Given the description of an element on the screen output the (x, y) to click on. 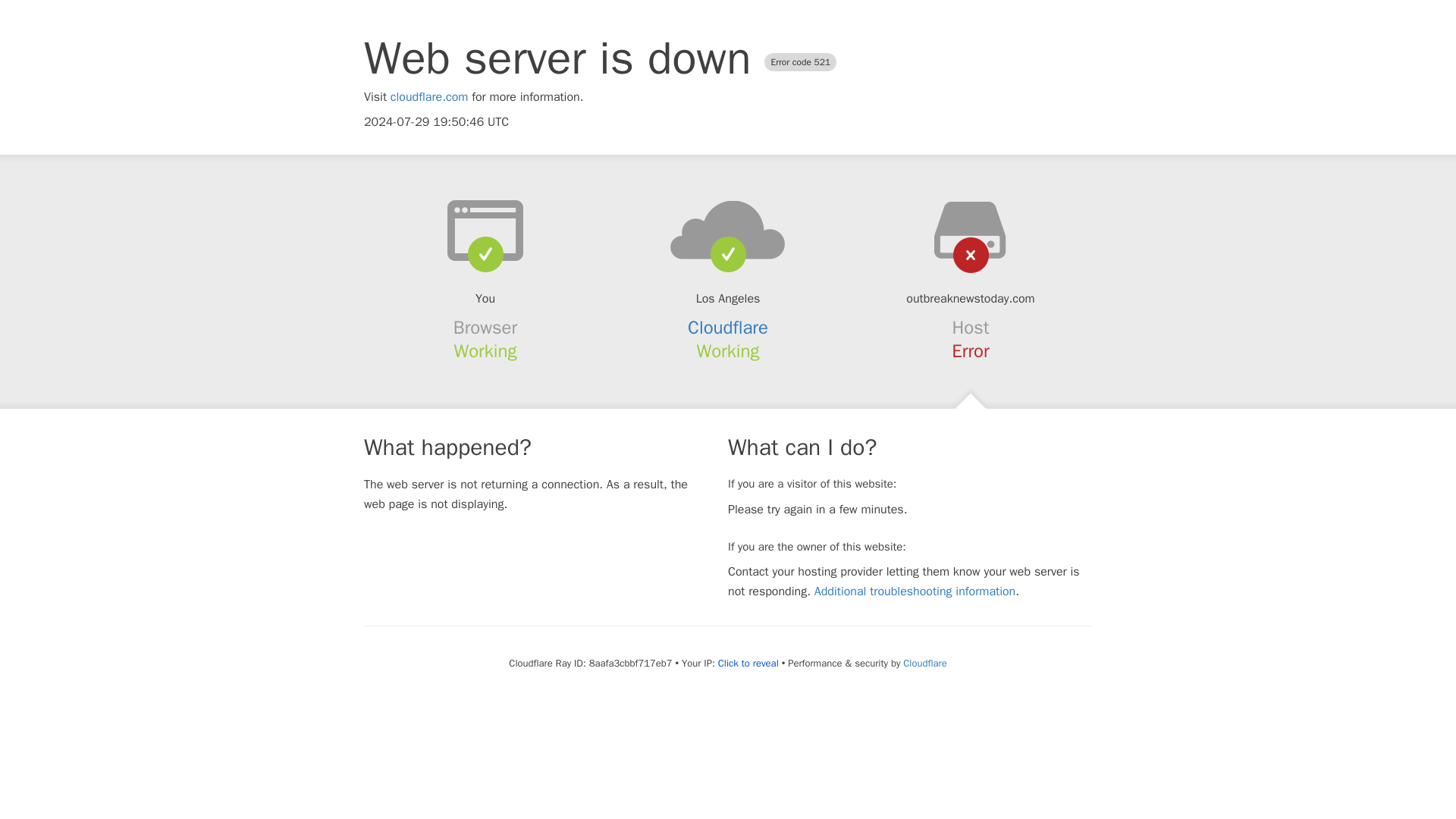
cloudflare.com (429, 96)
Cloudflare (924, 662)
Click to reveal (747, 663)
Cloudflare (727, 327)
Additional troubleshooting information (913, 590)
